Given the description of an element on the screen output the (x, y) to click on. 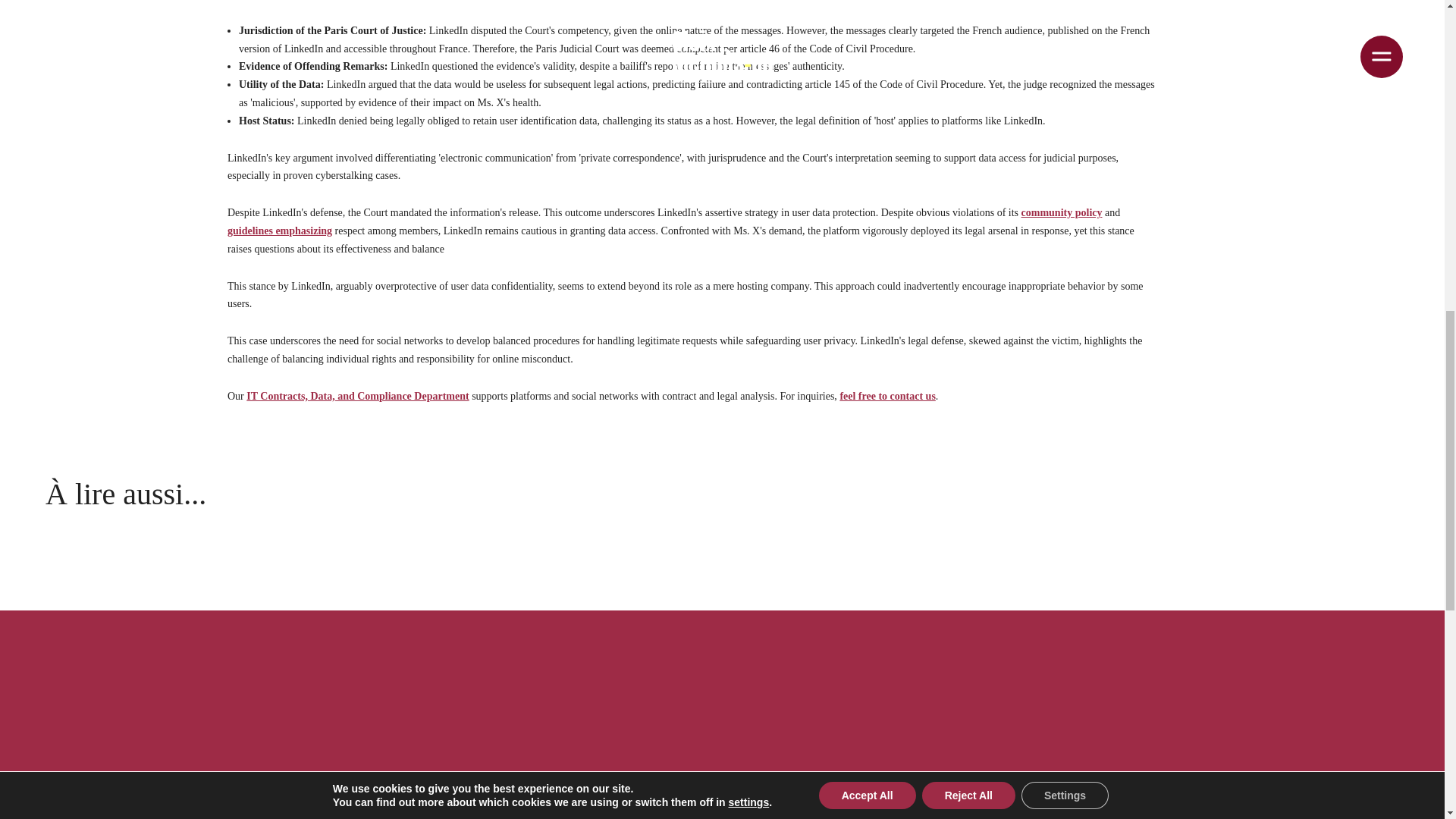
community policy (1062, 212)
feel free to contact us (887, 396)
IT Contracts, Data, and Compliance Department (357, 396)
guidelines emphasizing (279, 230)
